Given the description of an element on the screen output the (x, y) to click on. 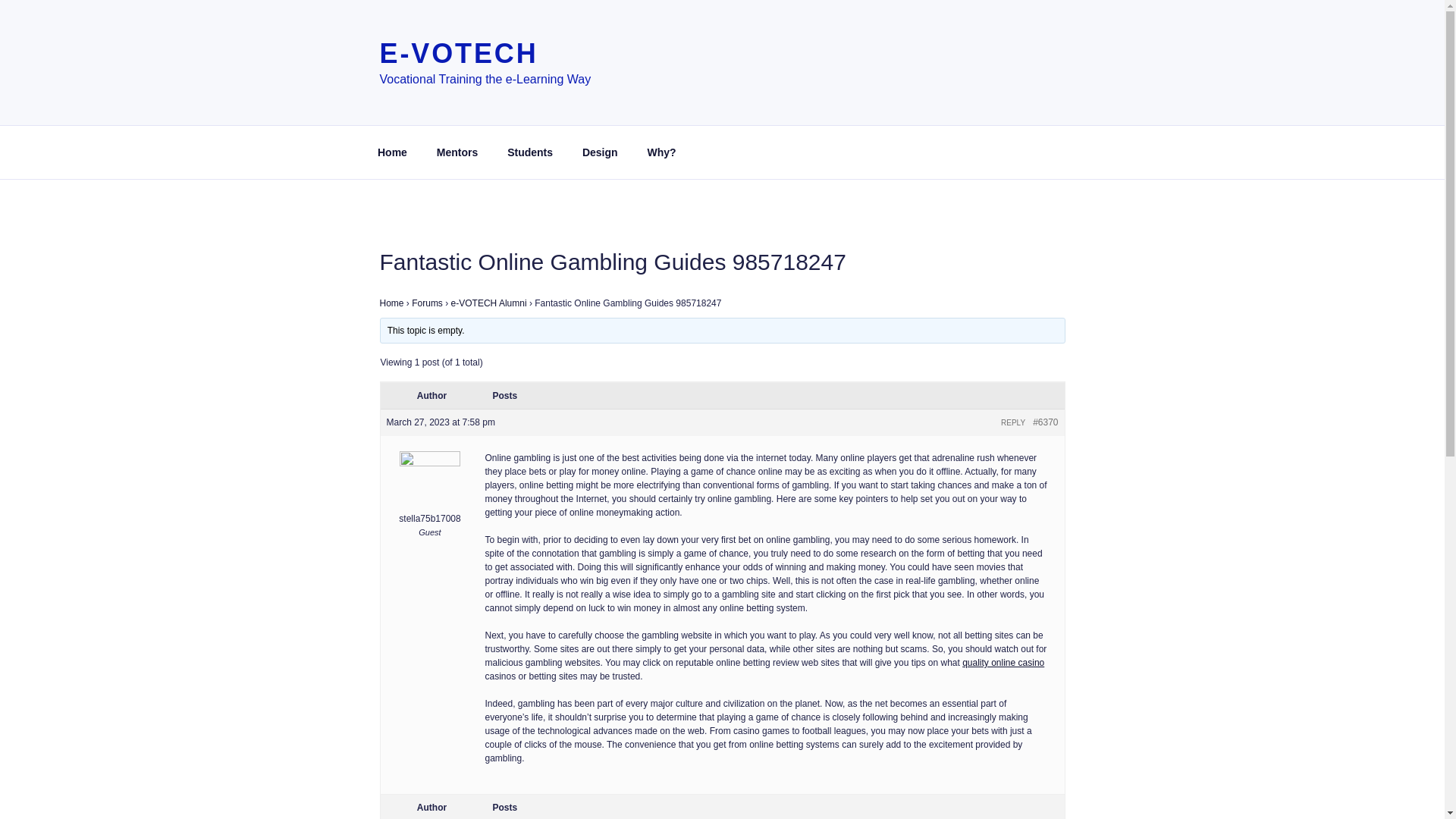
quality online casino (1002, 662)
Why? (660, 151)
Home (390, 302)
E-VOTECH (457, 52)
Design (599, 151)
Mentors (456, 151)
Students (530, 151)
Home (392, 151)
e-VOTECH Alumni (489, 302)
REPLY (1013, 422)
